Given the description of an element on the screen output the (x, y) to click on. 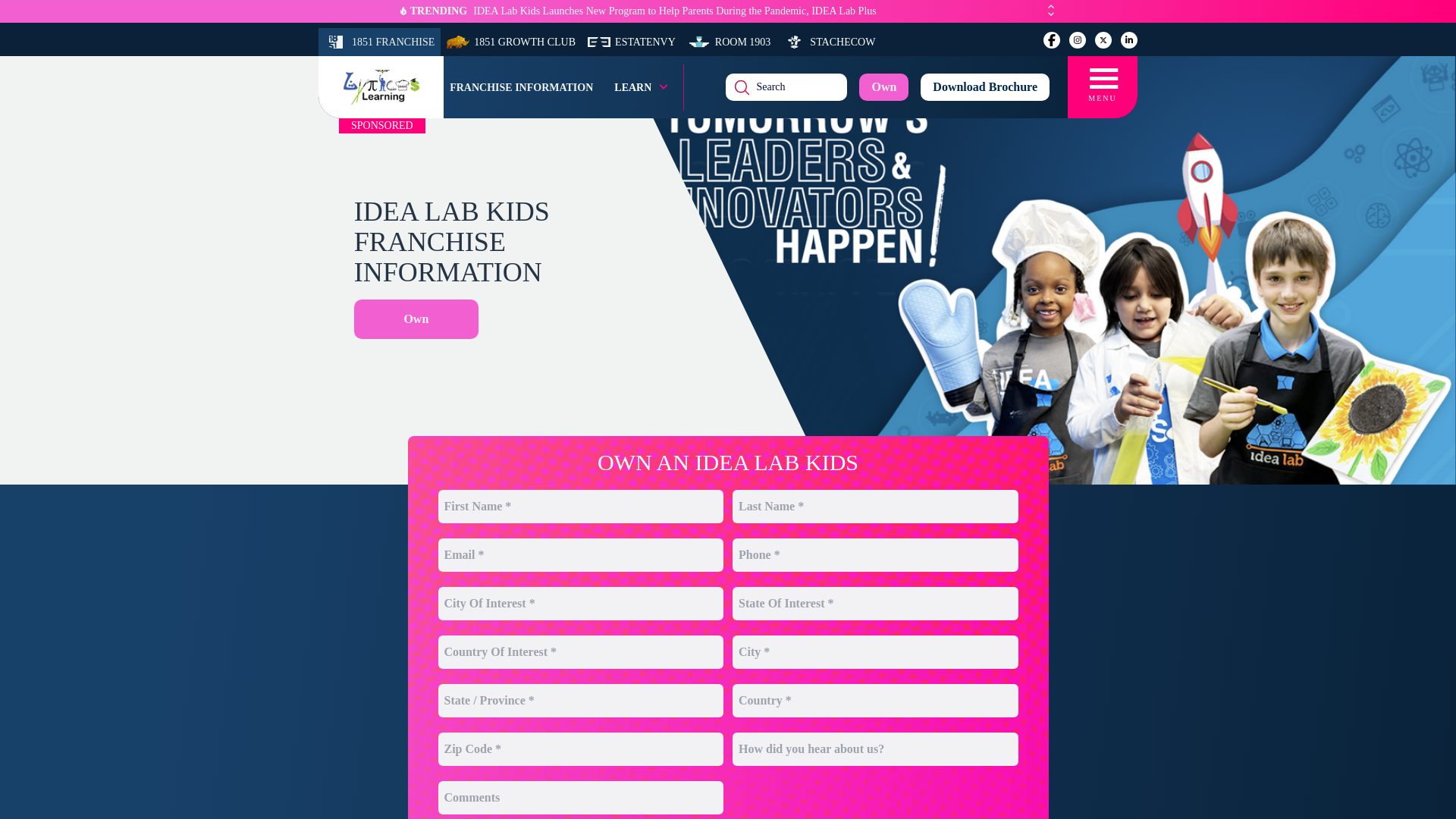
Own (883, 86)
1851 GROWTH CLUB (510, 41)
FRANCHISE INFORMATION (520, 86)
ROOM 1903 (729, 41)
Own (416, 319)
ESTATENVY (630, 41)
Download Brochure (984, 86)
LEARN (641, 86)
STACHECOW (828, 41)
